Given the description of an element on the screen output the (x, y) to click on. 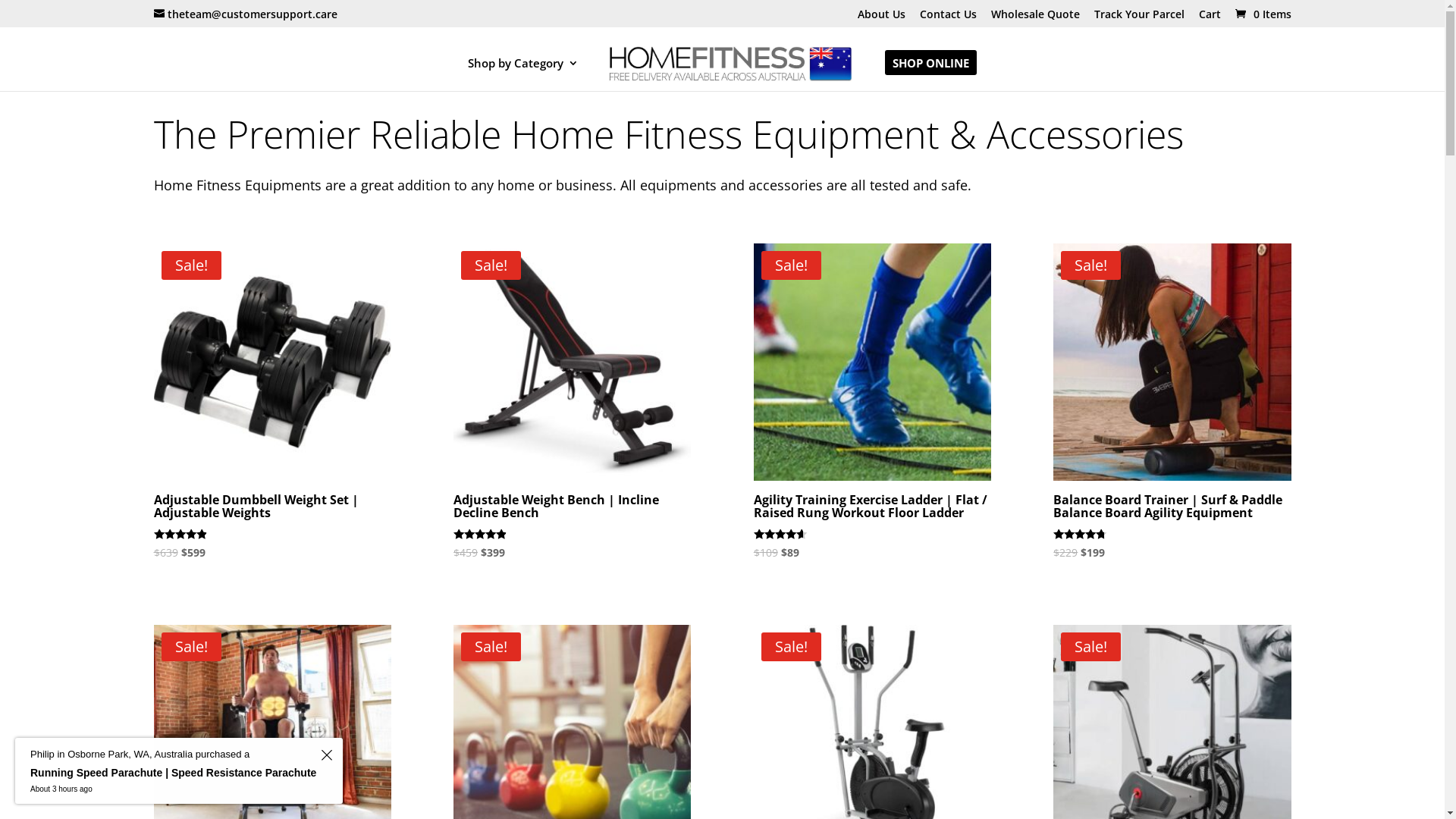
Wholesale Quote Element type: text (1034, 18)
theteam@customersupport.care Element type: text (244, 13)
Shop by Category Element type: text (522, 74)
Home Fitness 1 Element type: hover (271, 361)
0 Items Element type: text (1260, 13)
SHOP ONLINE Element type: text (930, 74)
Track Your Parcel Element type: text (1138, 18)
Home Fitness 3 Element type: hover (872, 361)
About Us Element type: text (880, 18)
Running Speed Parachute | Speed Resistance Parachute Element type: text (173, 772)
Home Fitness 2 Element type: hover (571, 361)
Contact Us Element type: text (947, 18)
Cart Element type: text (1209, 18)
Home Fitness 4 Element type: hover (1171, 361)
